Given the description of an element on the screen output the (x, y) to click on. 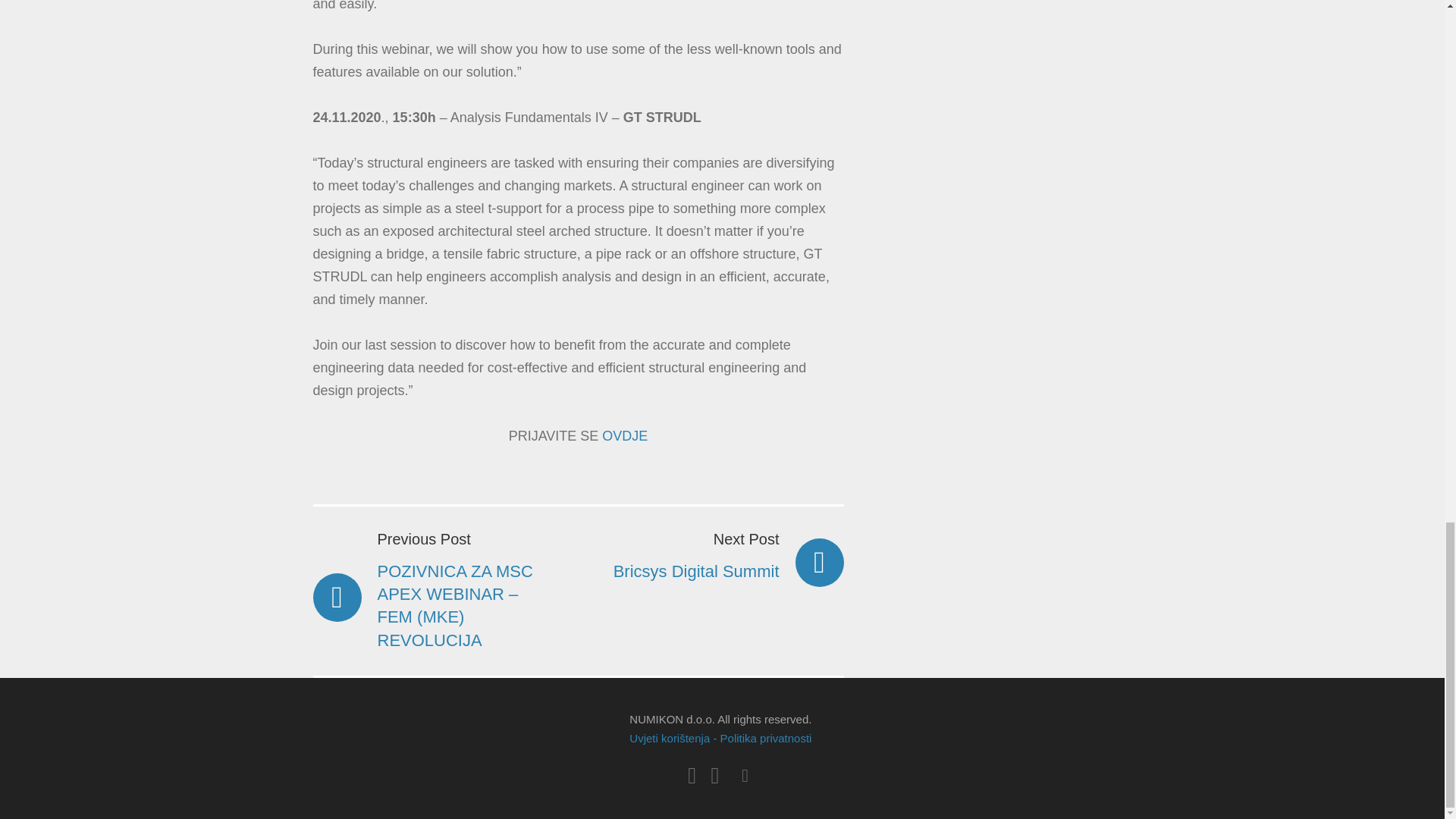
OVDJE (715, 554)
